Given the description of an element on the screen output the (x, y) to click on. 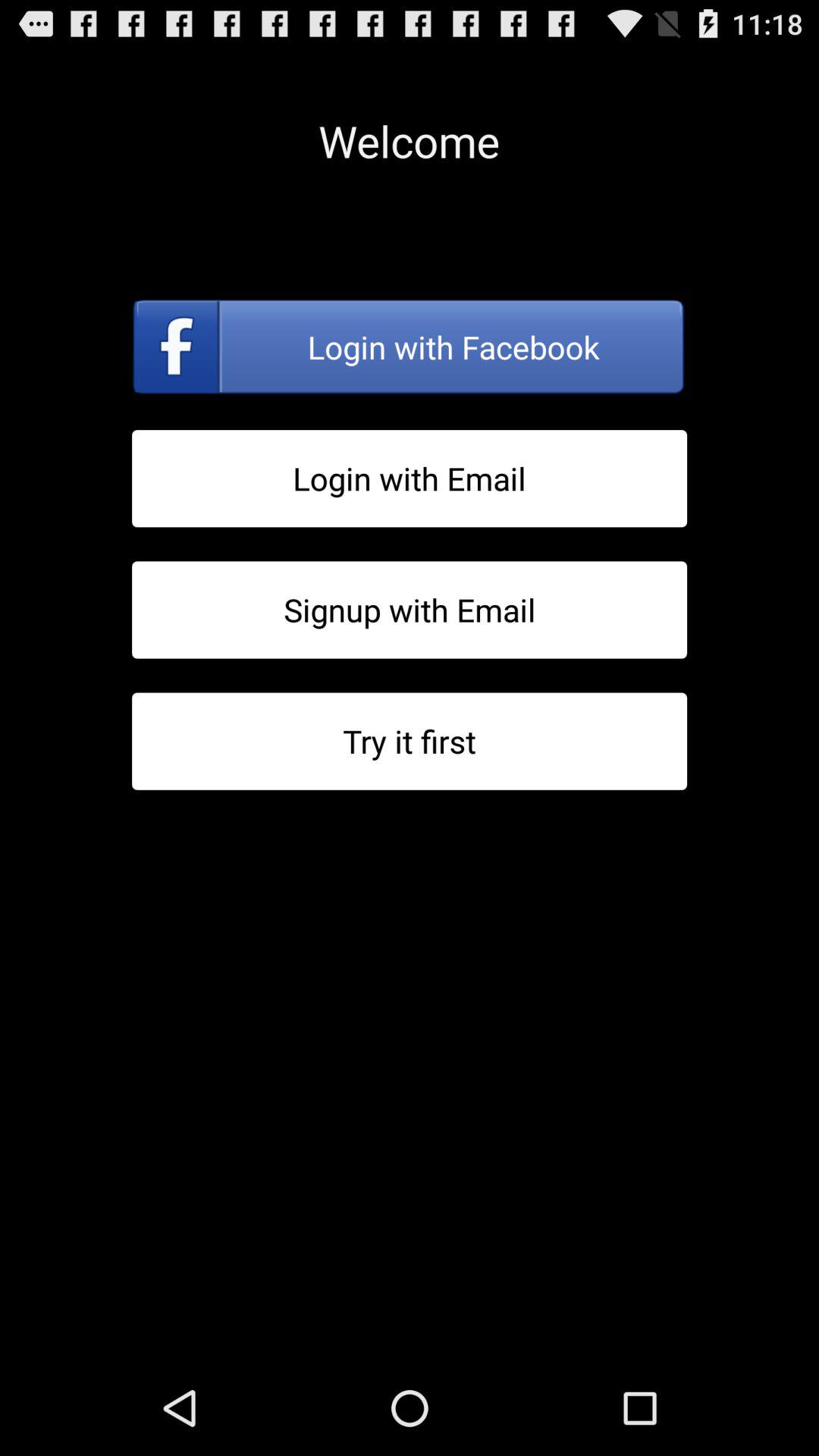
select item below the welcome item (409, 346)
